Given the description of an element on the screen output the (x, y) to click on. 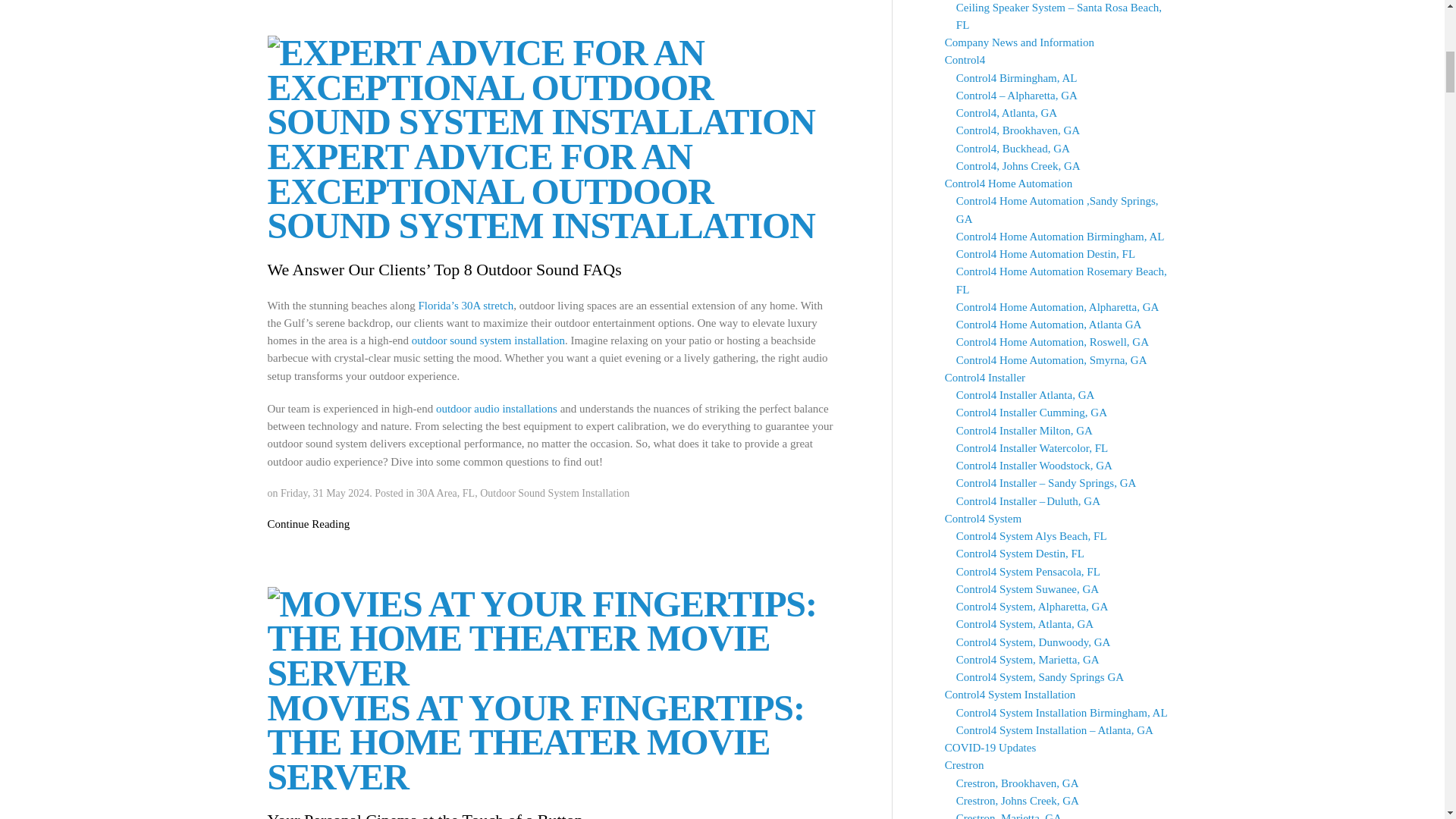
Movies at Your Fingertips: The Home Theater Movie Server (552, 634)
Movies at Your Fingertips: The Home Theater Movie Server (534, 741)
Movies at Your Fingertips: The Home Theater Movie Server (552, 639)
